Given the description of an element on the screen output the (x, y) to click on. 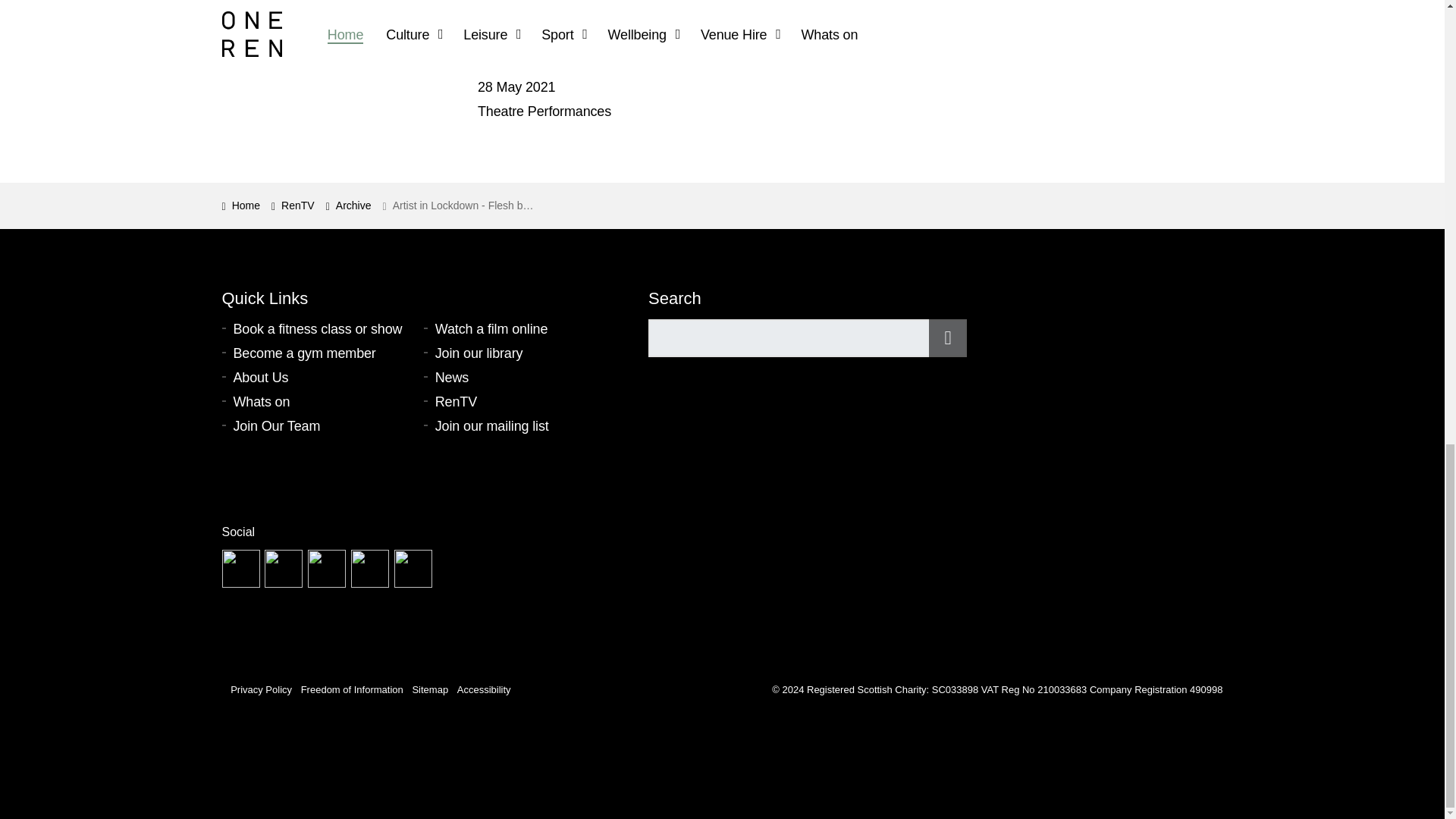
Home (240, 205)
Theatre Performances (544, 110)
Theatre Performances (544, 110)
Archive (348, 205)
Book a fitness class or show (322, 329)
RenTV (292, 205)
